Given the description of an element on the screen output the (x, y) to click on. 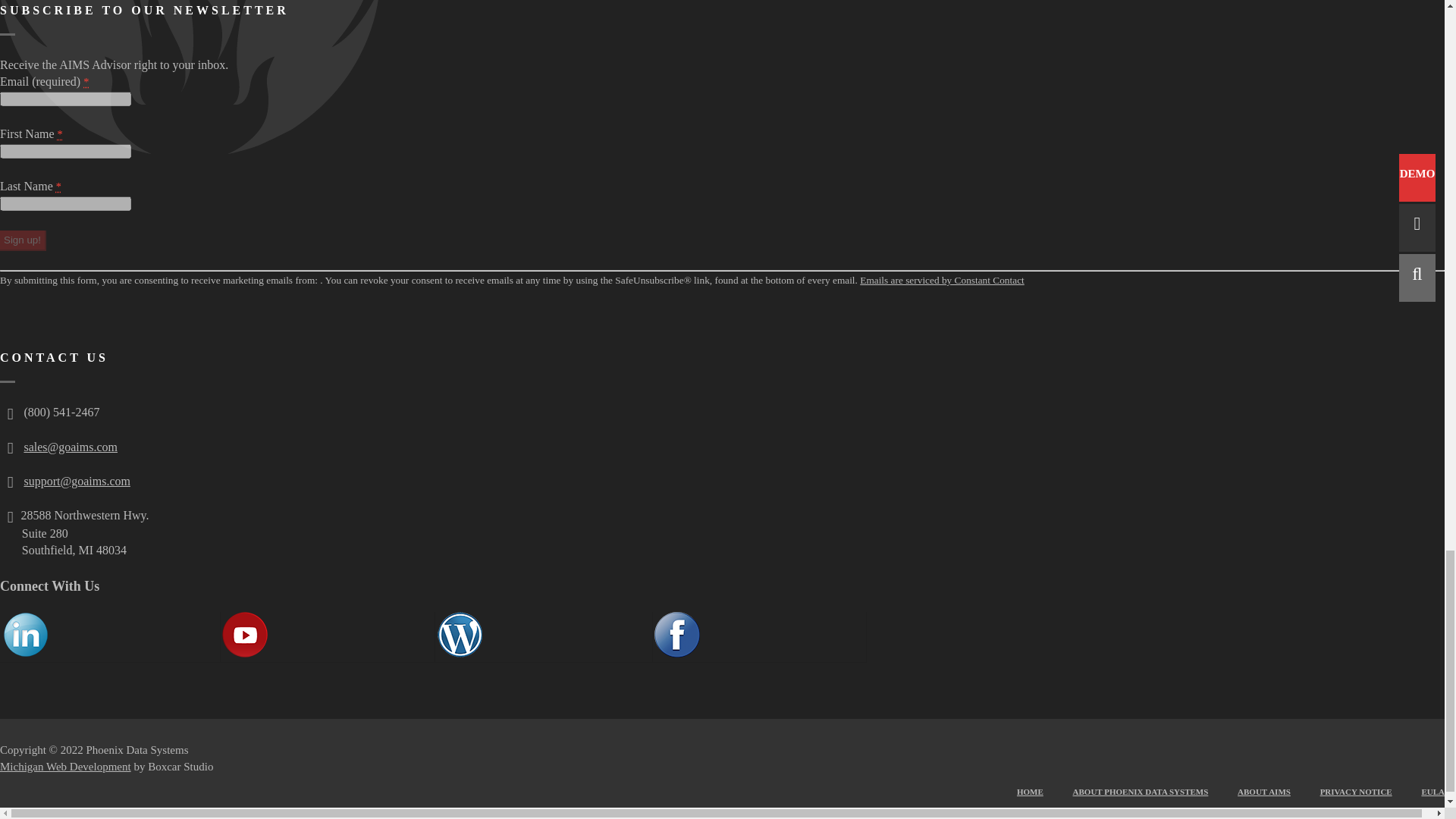
required (85, 81)
required (58, 186)
Sign up! (23, 240)
required (60, 133)
